Given the description of an element on the screen output the (x, y) to click on. 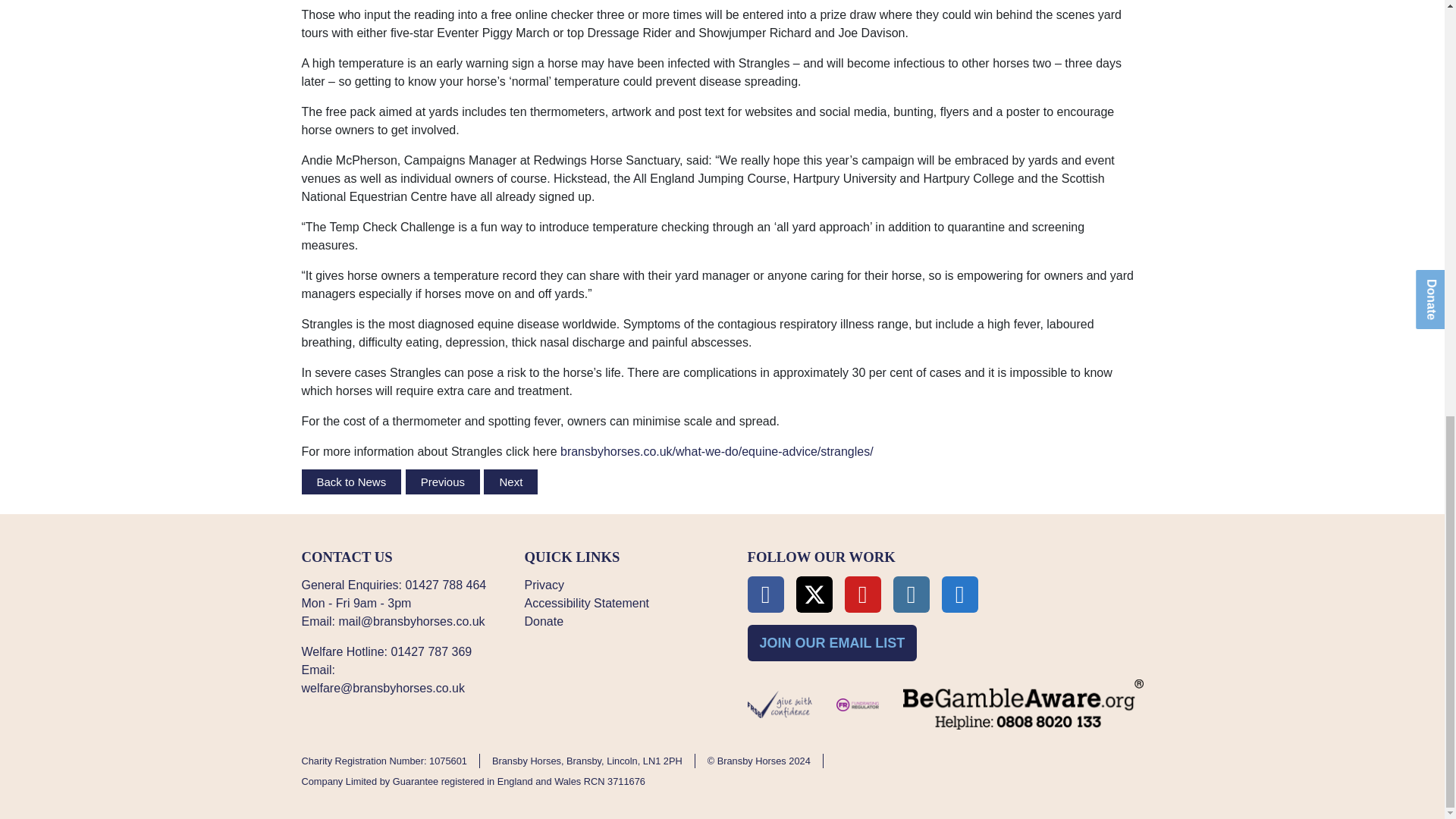
Facebook (766, 594)
LinkedIn (960, 594)
Previous (443, 481)
Twitter (814, 594)
YouTube (862, 594)
Back to News (352, 481)
Instagram (911, 594)
